Given the description of an element on the screen output the (x, y) to click on. 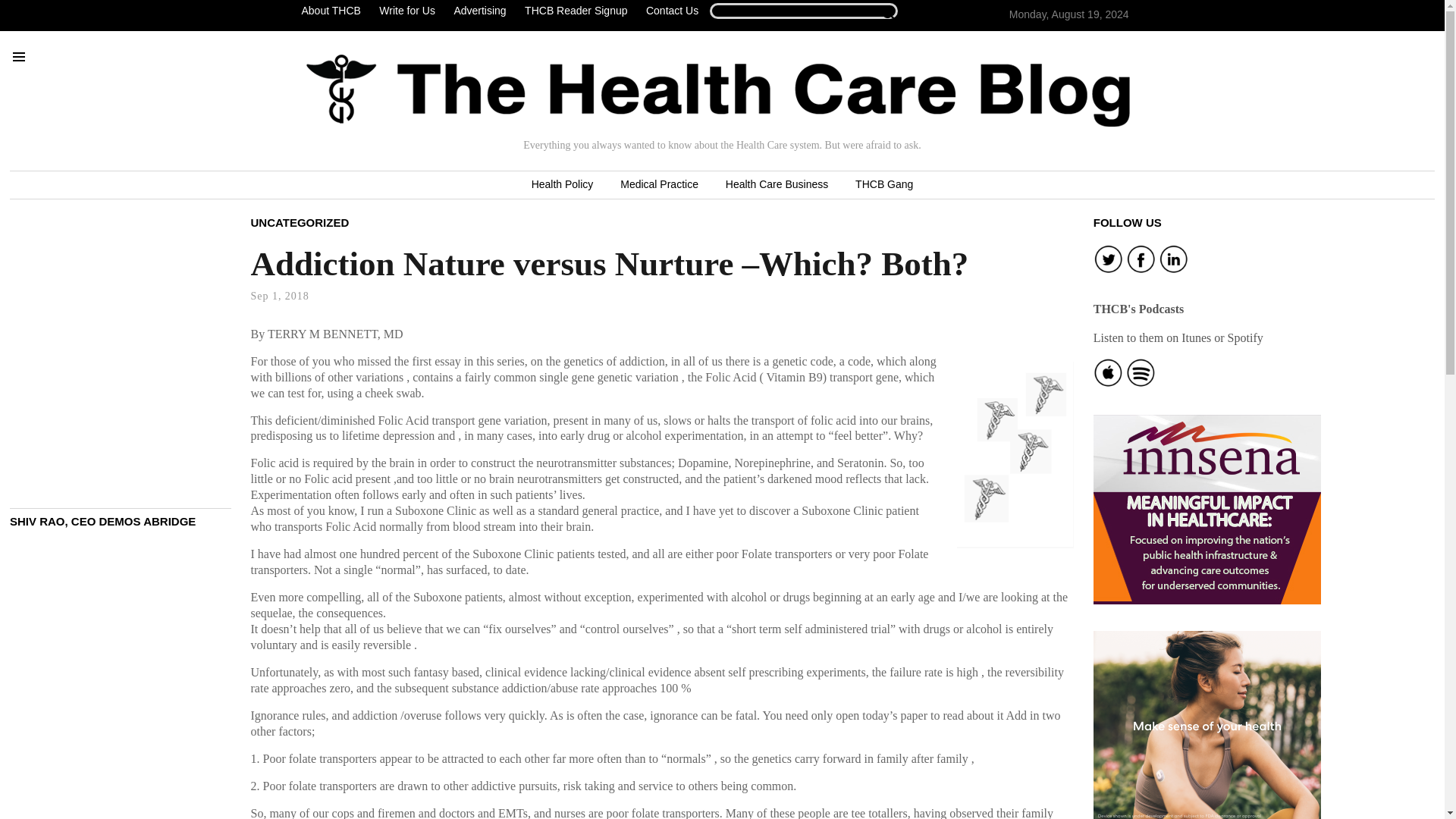
UNCATEGORIZED (299, 221)
THCB Reader Signup (575, 10)
THCB Gang (883, 184)
About THCB (334, 10)
Advertising (479, 10)
Contact Us (672, 10)
Write for Us (406, 10)
Health Care Business (776, 184)
Medical Practice (659, 184)
Home (718, 90)
